Given the description of an element on the screen output the (x, y) to click on. 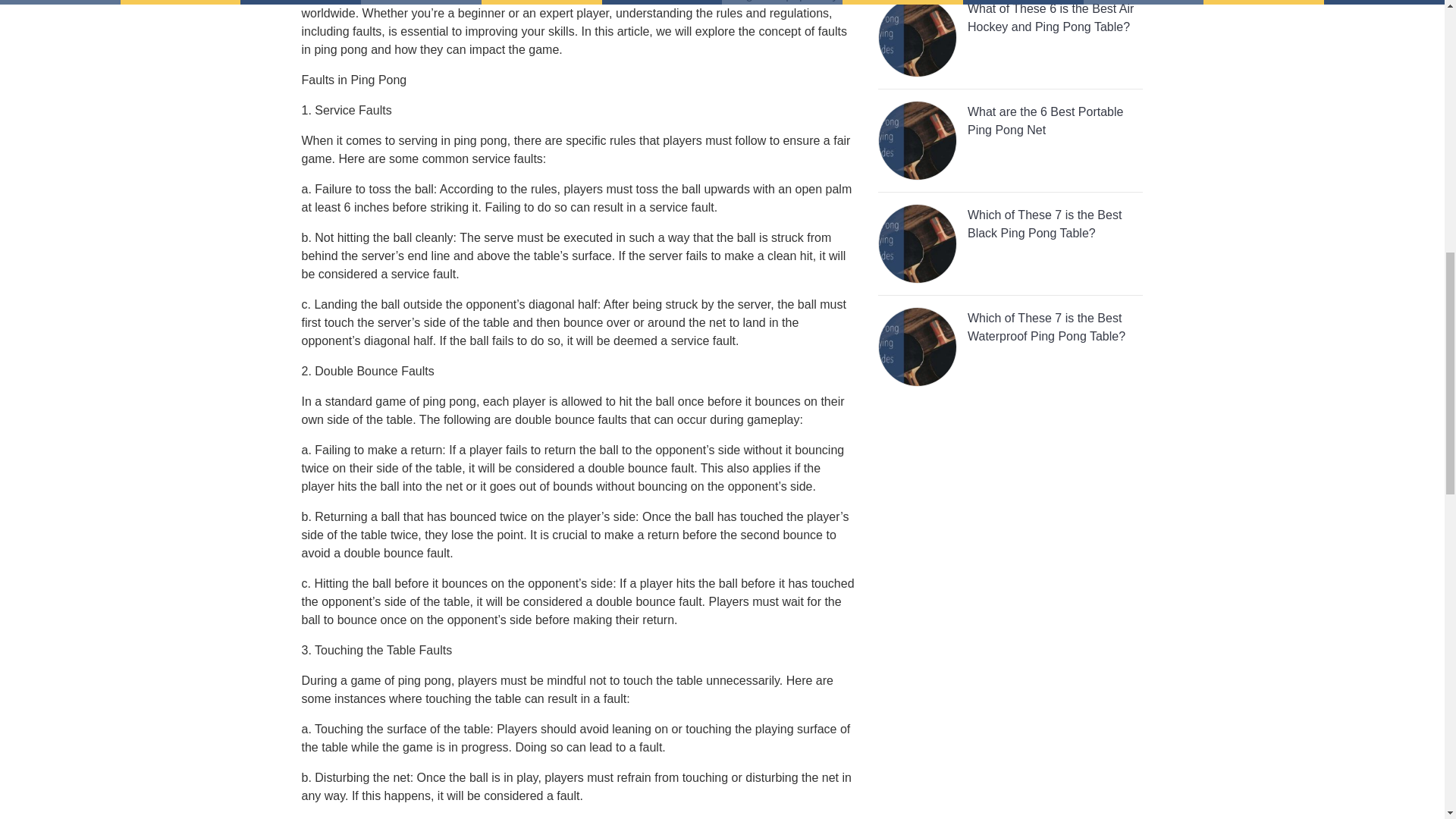
What are the 6 Best Portable Ping Pong Net (1009, 146)
What of These 6 is the Best Air Hockey and Ping Pong Table? (1009, 44)
Which of These 7 is the Best Waterproof Ping Pong Table? (1009, 352)
Which of These 7 is the Best Black Ping Pong Table? (1009, 249)
